Given the description of an element on the screen output the (x, y) to click on. 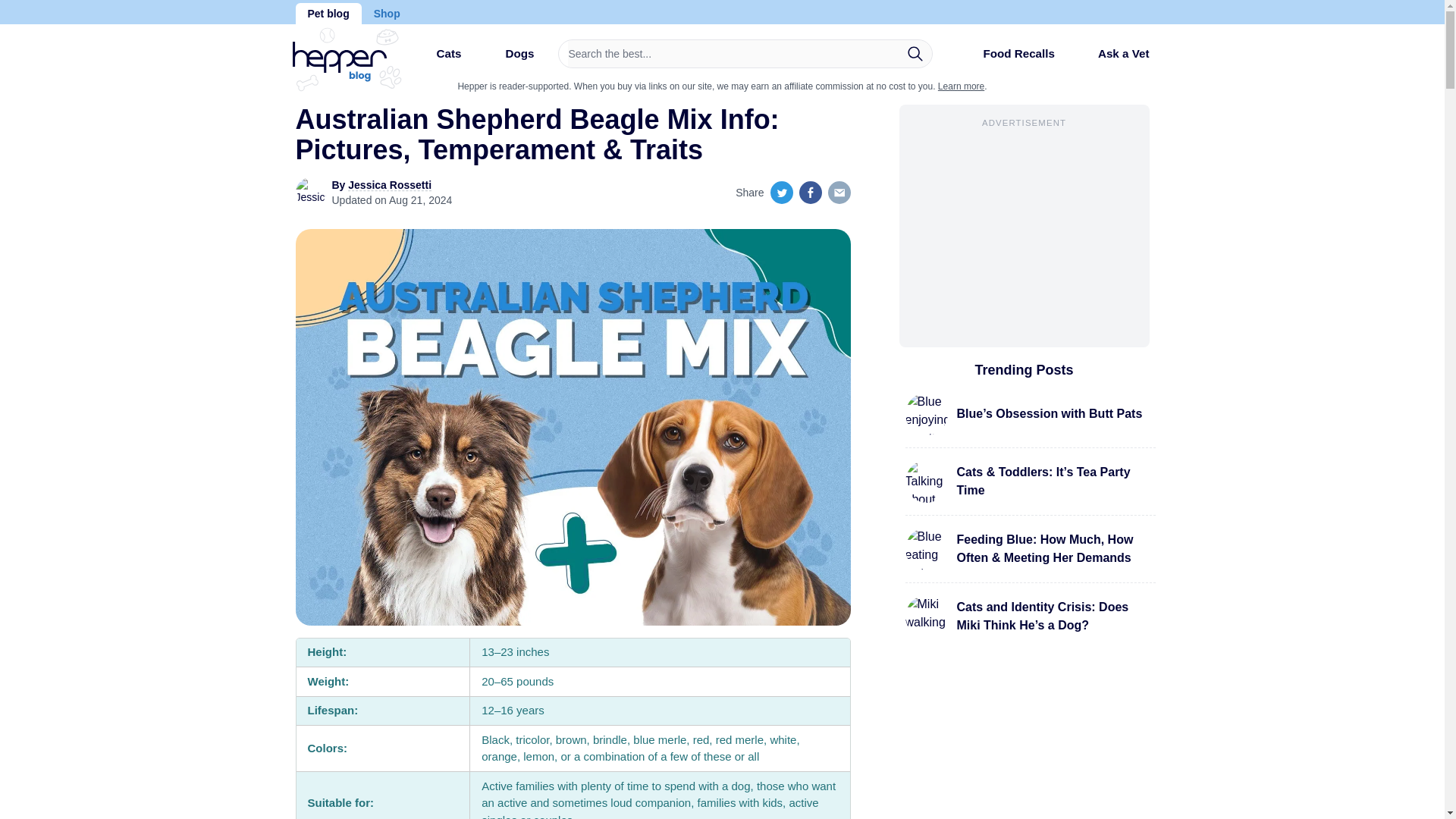
Cats (435, 59)
Jessica Rossetti (388, 184)
Learn more (960, 86)
Food Recalls (1005, 59)
Shop (387, 13)
Ask a Vet (1111, 53)
Dogs (506, 59)
